Given the description of an element on the screen output the (x, y) to click on. 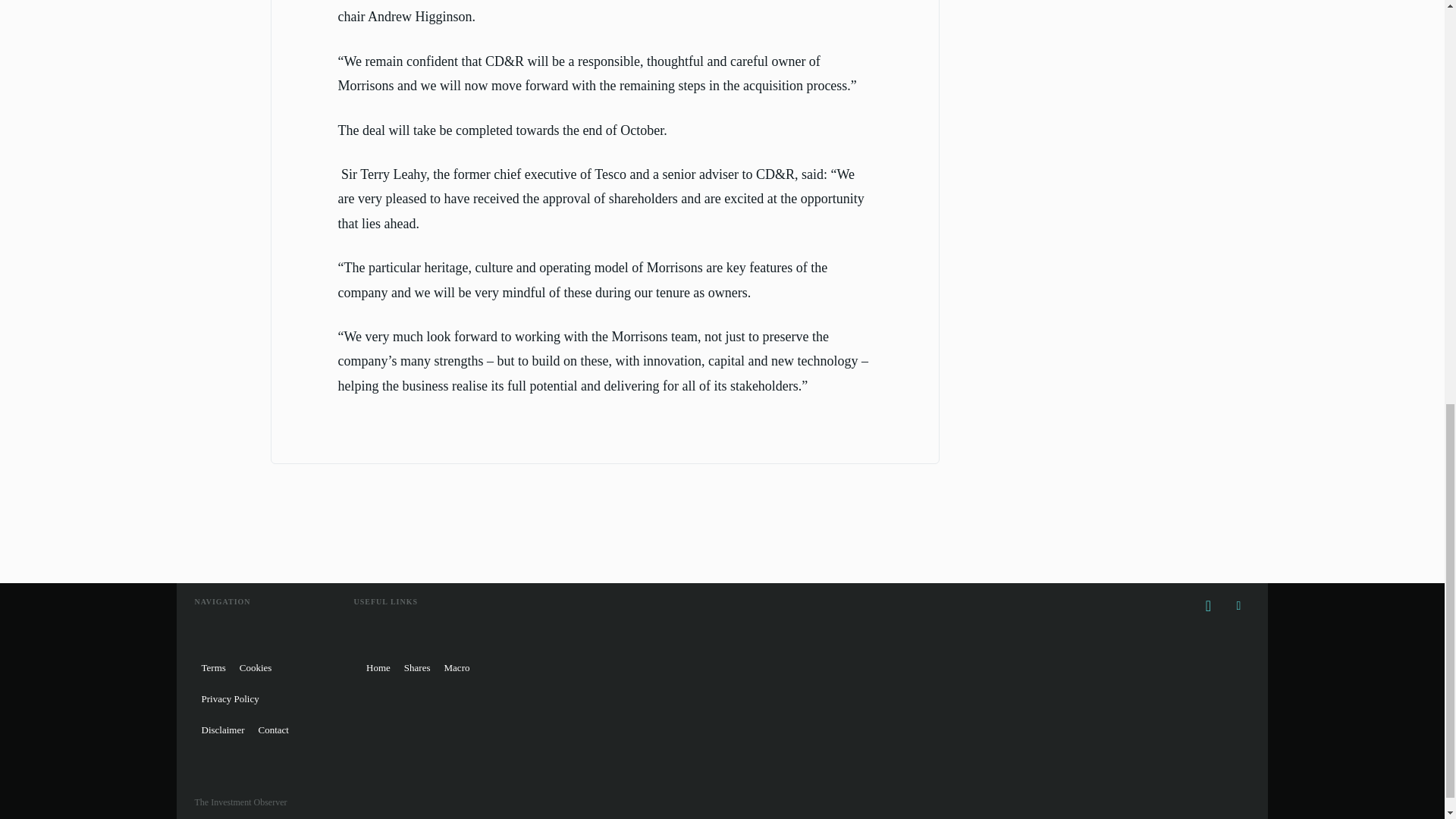
Privacy Policy (228, 698)
Disclaimer (221, 729)
Contact (273, 729)
Home (378, 667)
Macro (457, 667)
Shares (417, 667)
Cookies (255, 667)
Terms (212, 667)
